Given the description of an element on the screen output the (x, y) to click on. 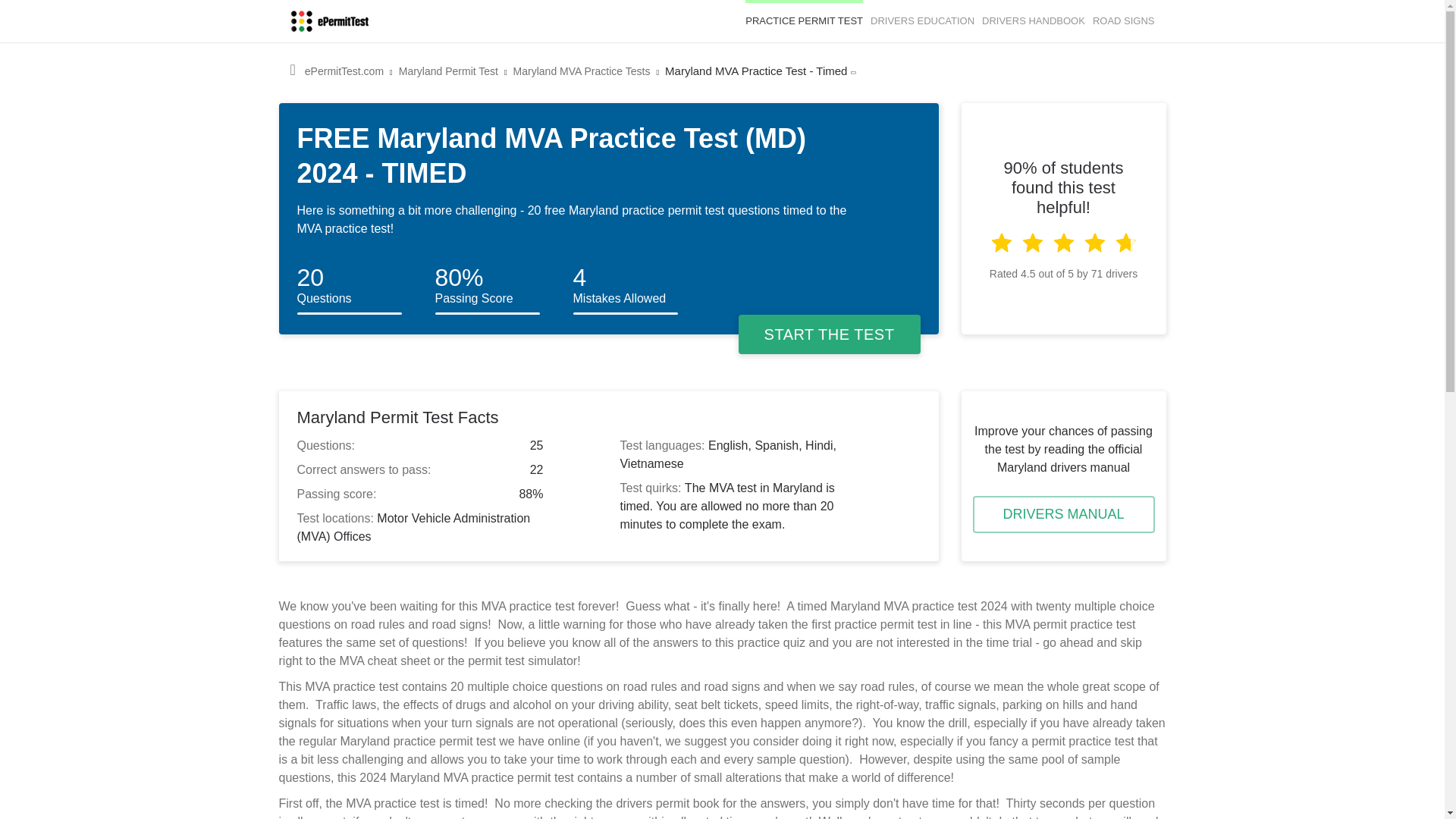
Maryland MVA Practice Tests (804, 21)
Maryland Road Signs (1123, 21)
DRIVERS MANUAL (1063, 514)
Maryland MVA Practice Tests (581, 70)
ePermittTest (328, 21)
Maryland Drivers Education (922, 21)
Created with Sketch. (1032, 241)
START THE TEST (829, 333)
ePermitTest.com (344, 70)
Maryland drivers manual (1063, 514)
DRIVERS EDUCATION (922, 21)
ROAD SIGNS (1123, 21)
ePermitTest.com (344, 70)
PRACTICE PERMIT TEST (804, 21)
Created with Sketch. (1125, 241)
